Given the description of an element on the screen output the (x, y) to click on. 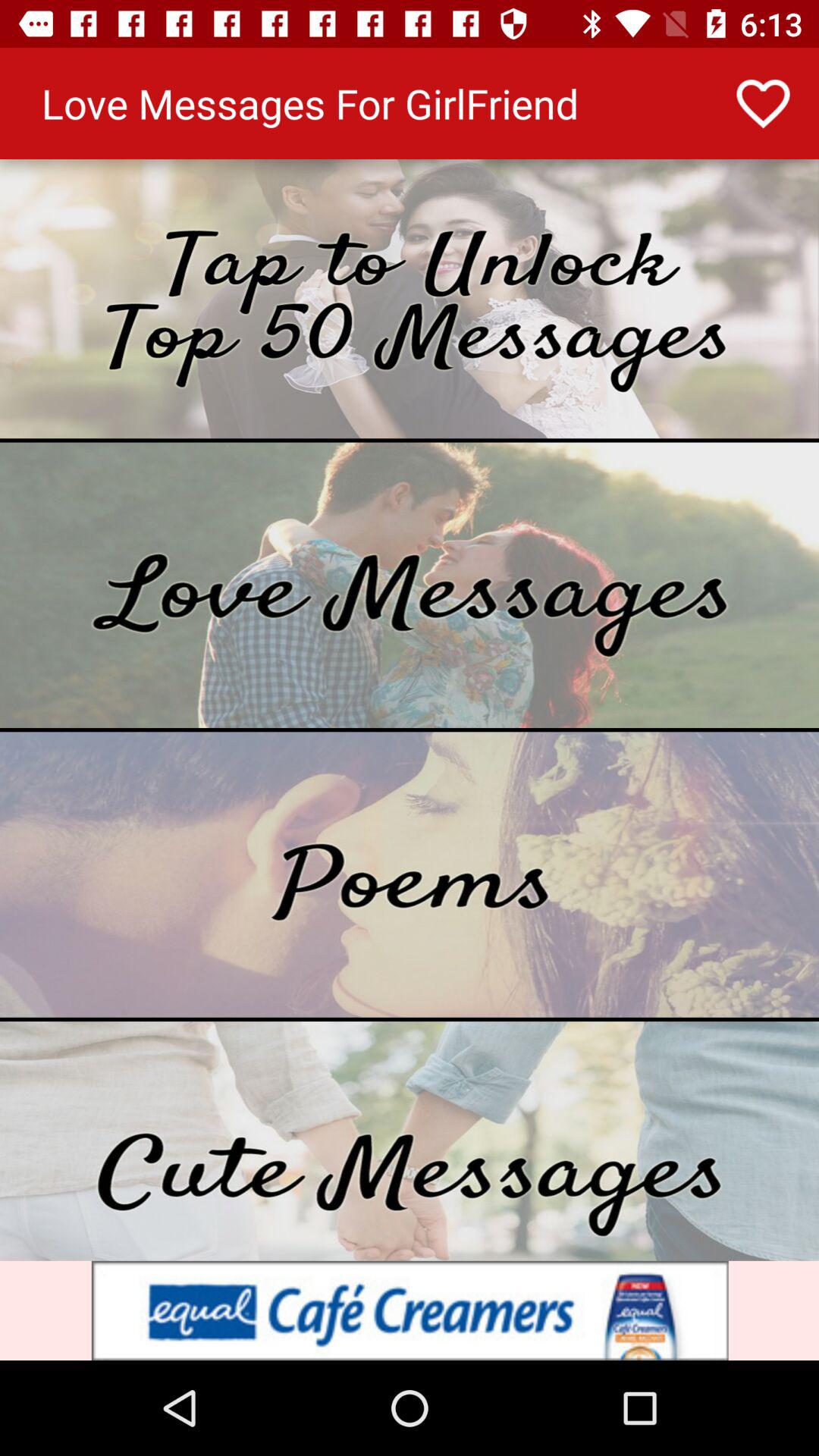
go to advertisements website (409, 1310)
